Given the description of an element on the screen output the (x, y) to click on. 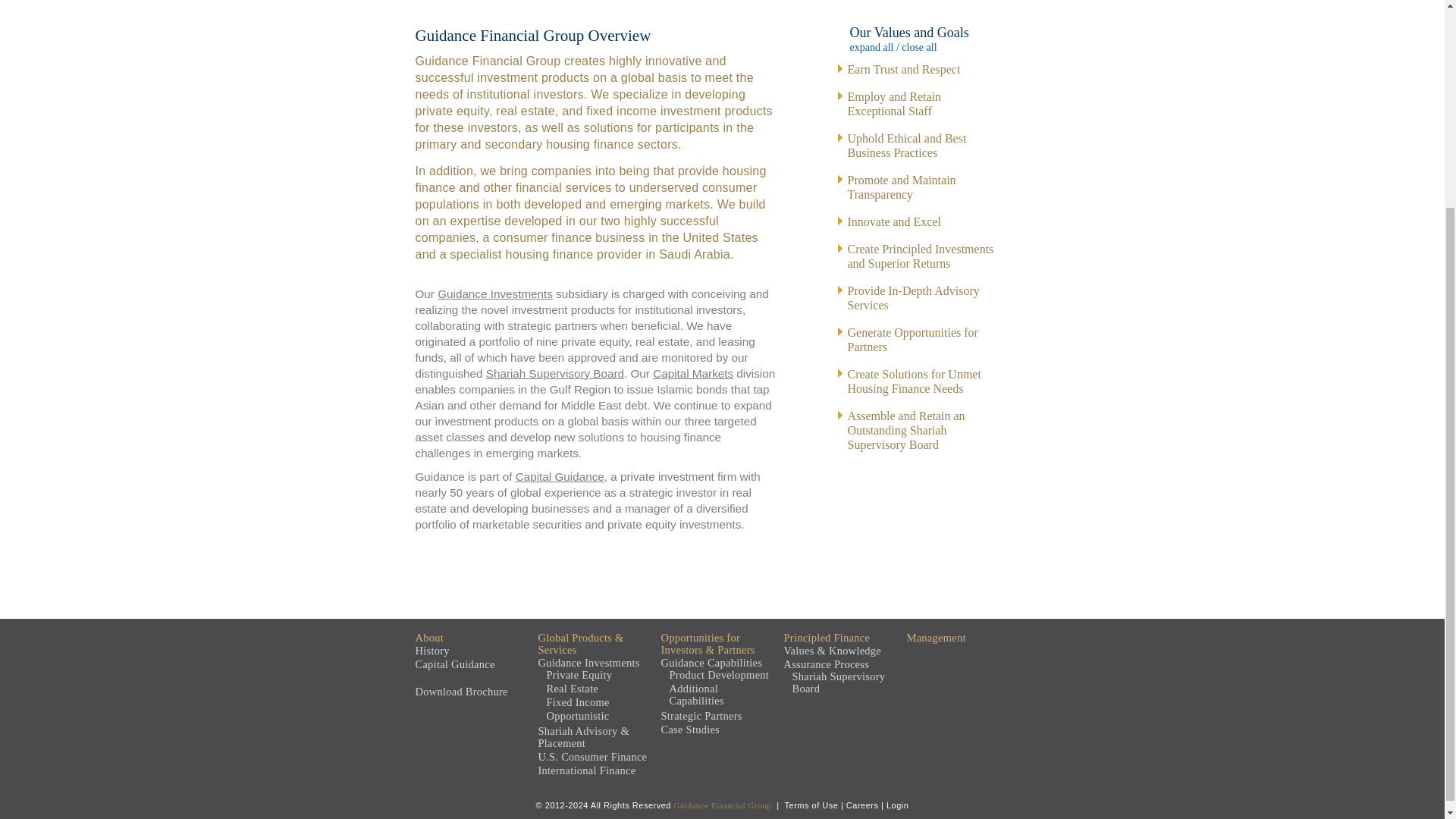
Guidance Investments (495, 293)
Shariah Supervisory Board (555, 373)
Fixed Income (692, 373)
Capital Guidance (559, 476)
